Given the description of an element on the screen output the (x, y) to click on. 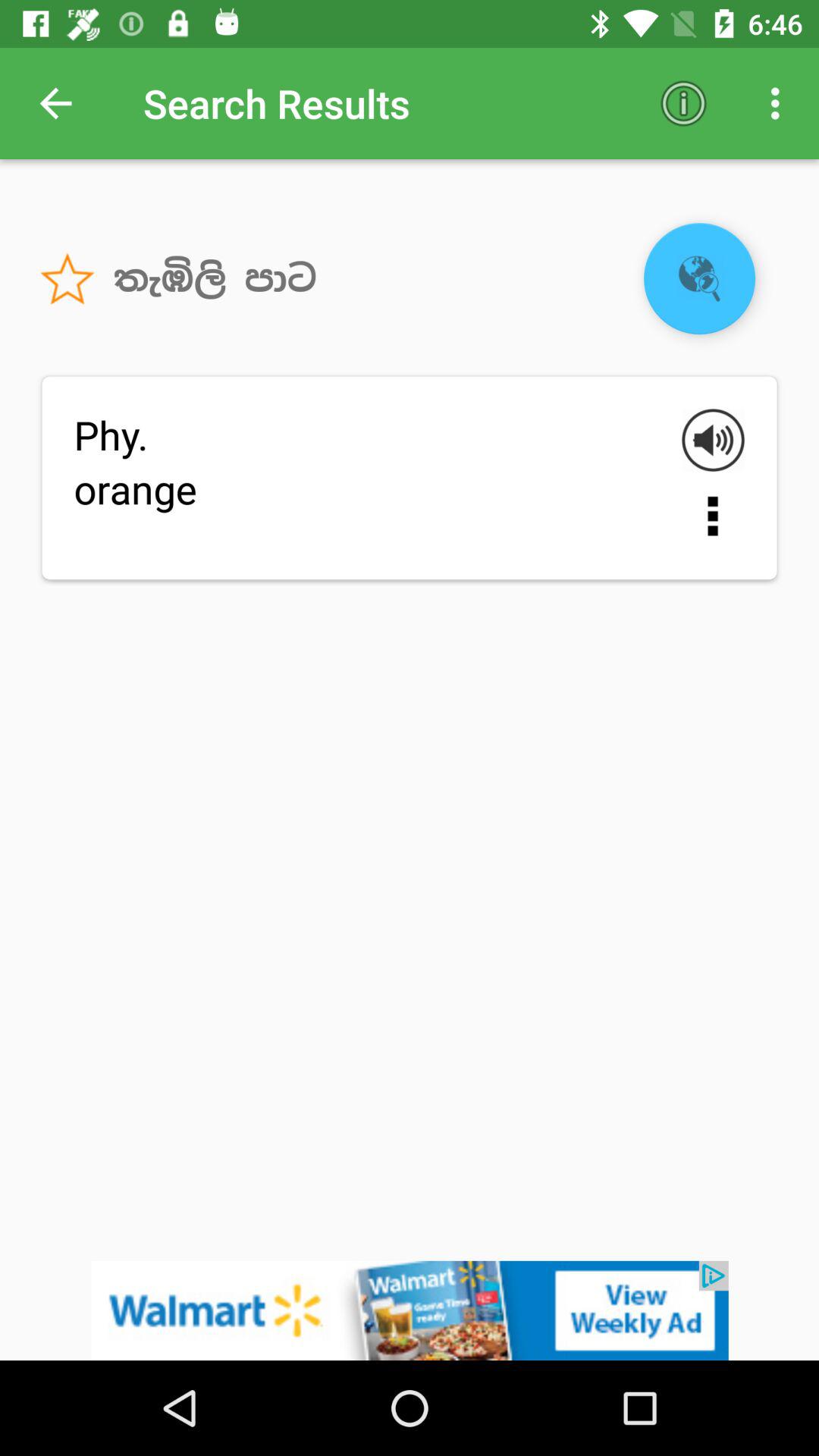
select the blue icon (699, 278)
